Given the description of an element on the screen output the (x, y) to click on. 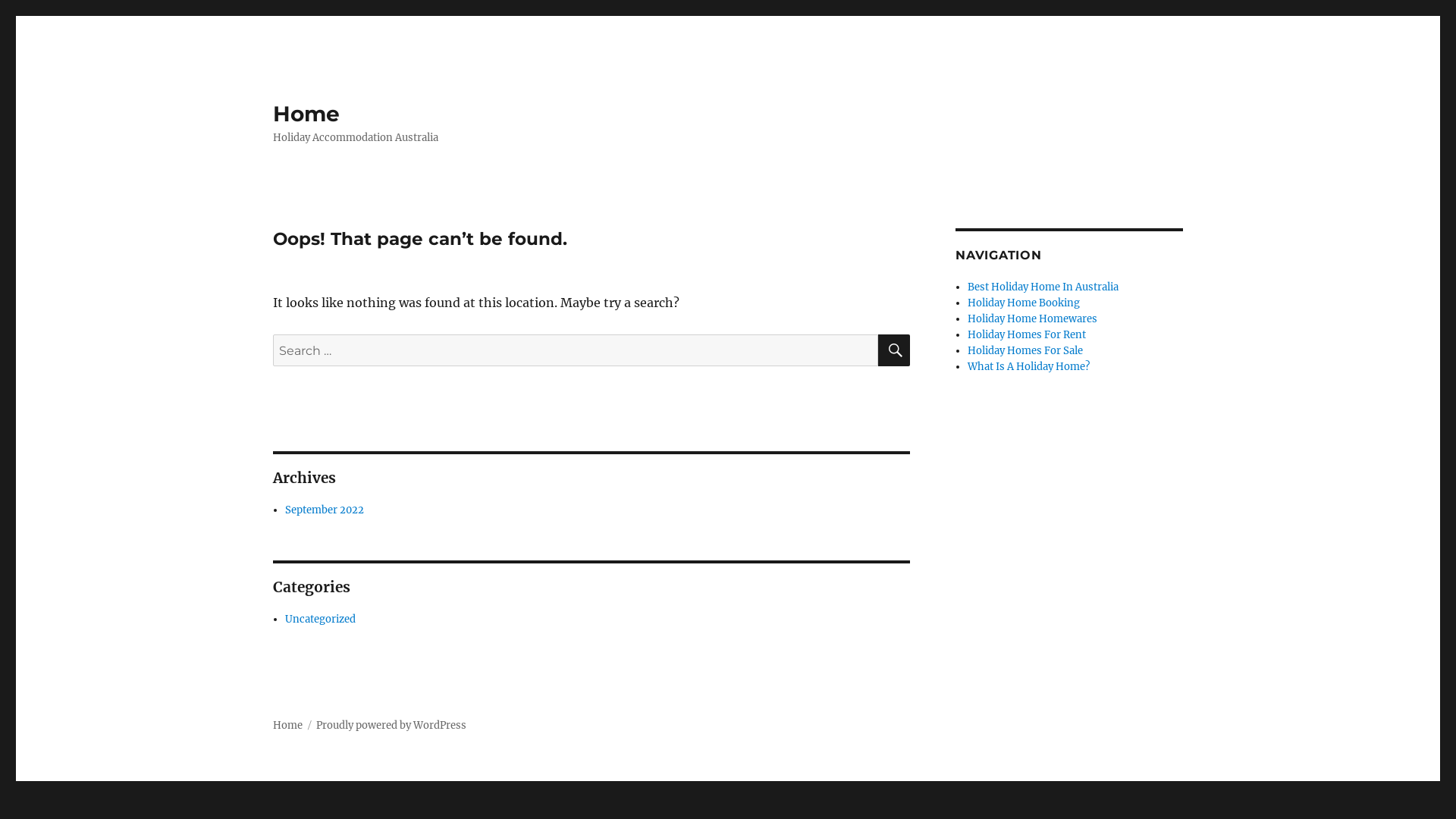
Holiday Homes For Sale Element type: text (1024, 350)
Home Element type: text (287, 724)
Holiday Homes For Rent Element type: text (1026, 334)
Holiday Home Homewares Element type: text (1032, 318)
Holiday Home Booking Element type: text (1023, 302)
September 2022 Element type: text (324, 509)
What Is A Holiday Home? Element type: text (1028, 366)
Best Holiday Home In Australia Element type: text (1042, 286)
Proudly powered by WordPress Element type: text (391, 724)
SEARCH Element type: text (894, 350)
Home Element type: text (306, 113)
Uncategorized Element type: text (320, 618)
